Given the description of an element on the screen output the (x, y) to click on. 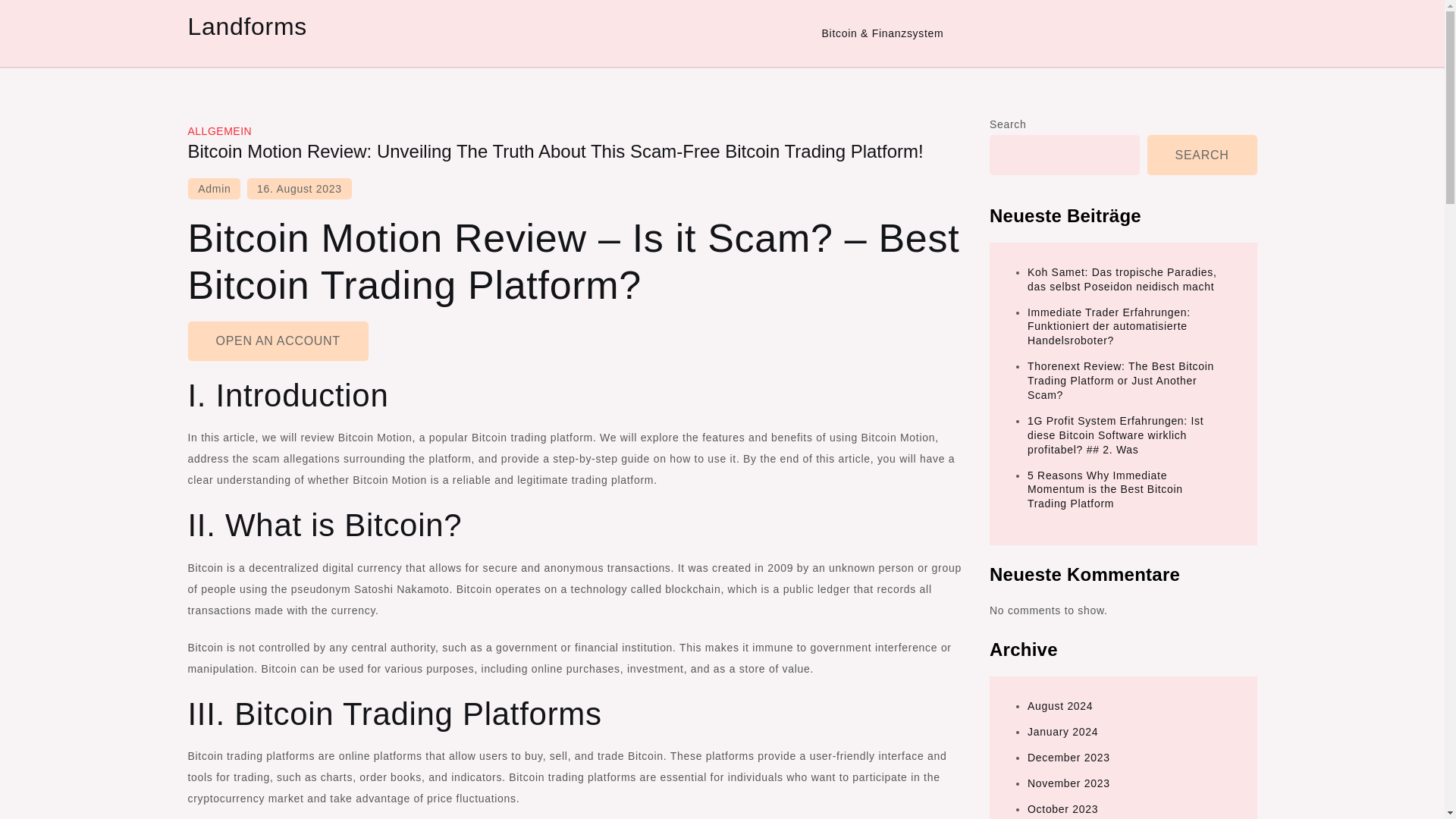
SEARCH (1202, 155)
16. August 2023 (299, 188)
OPEN AN ACCOUNT (277, 341)
November 2023 (1068, 783)
Landforms (247, 26)
October 2023 (1062, 808)
ALLGEMEIN (219, 131)
January 2024 (1062, 731)
